Given the description of an element on the screen output the (x, y) to click on. 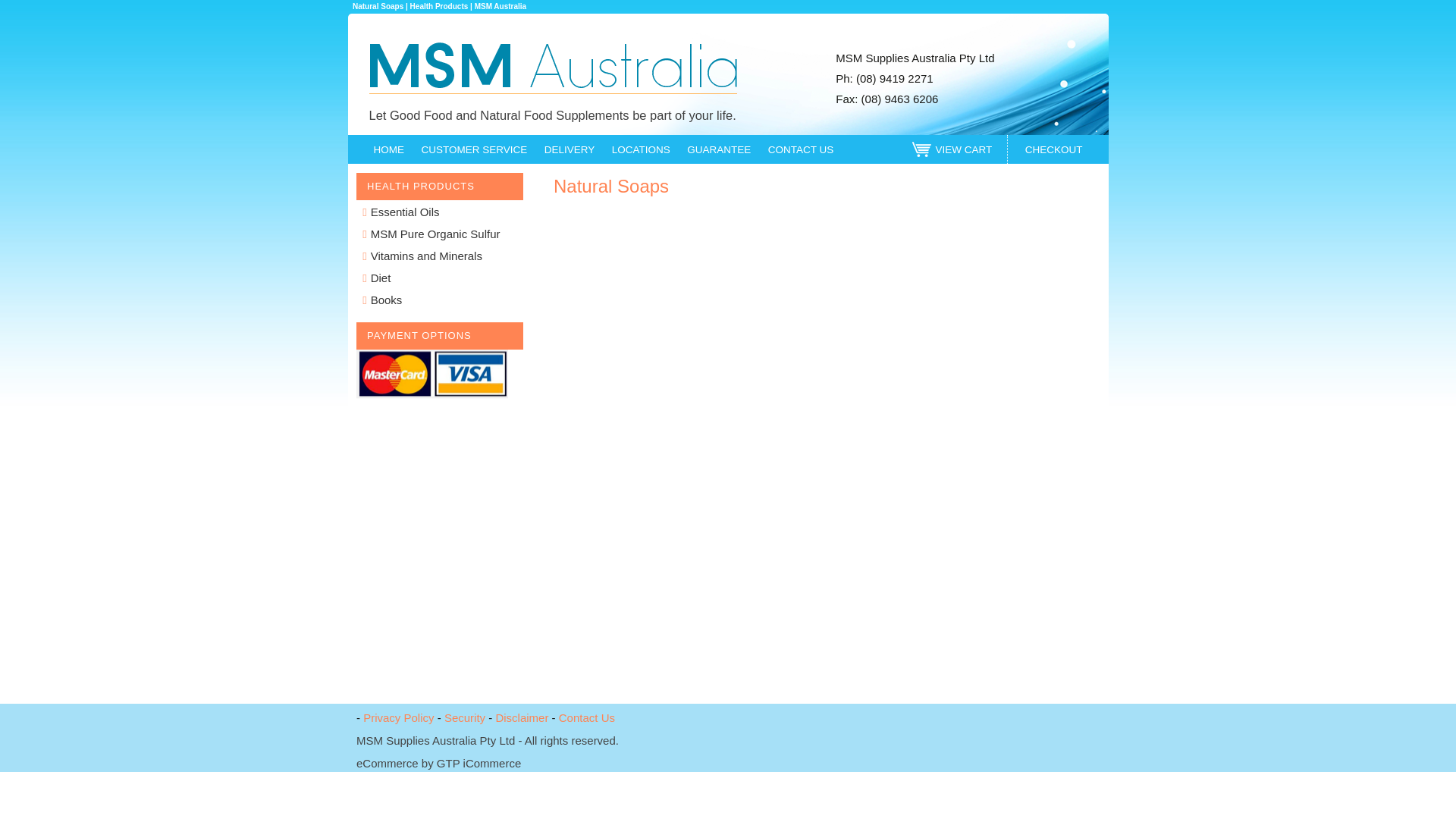
LOCATIONS Element type: text (640, 149)
DELIVERY Element type: text (569, 149)
Privacy Policy Element type: text (398, 717)
MSM Pure Organic Sulfur Element type: text (429, 233)
Essential Oils Element type: text (399, 211)
CONTACT US Element type: text (801, 149)
CUSTOMER SERVICE Element type: text (474, 149)
Disclaimer Element type: text (521, 717)
CHECKOUT Element type: text (1053, 149)
Natural Soaps | Health Products | MSM Australia Element type: hover (551, 66)
VIEW CART Element type: text (963, 149)
Vitamins and Minerals Element type: text (420, 255)
Security Element type: text (464, 717)
Diet Element type: text (374, 277)
Natural Soaps | Health Products | MSM Australia Element type: text (439, 6)
eCommerce by GTP iCommerce Element type: text (438, 762)
GUARANTEE Element type: text (718, 149)
Books Element type: text (380, 299)
Contact Us Element type: text (586, 717)
HOME Element type: text (388, 149)
